Given the description of an element on the screen output the (x, y) to click on. 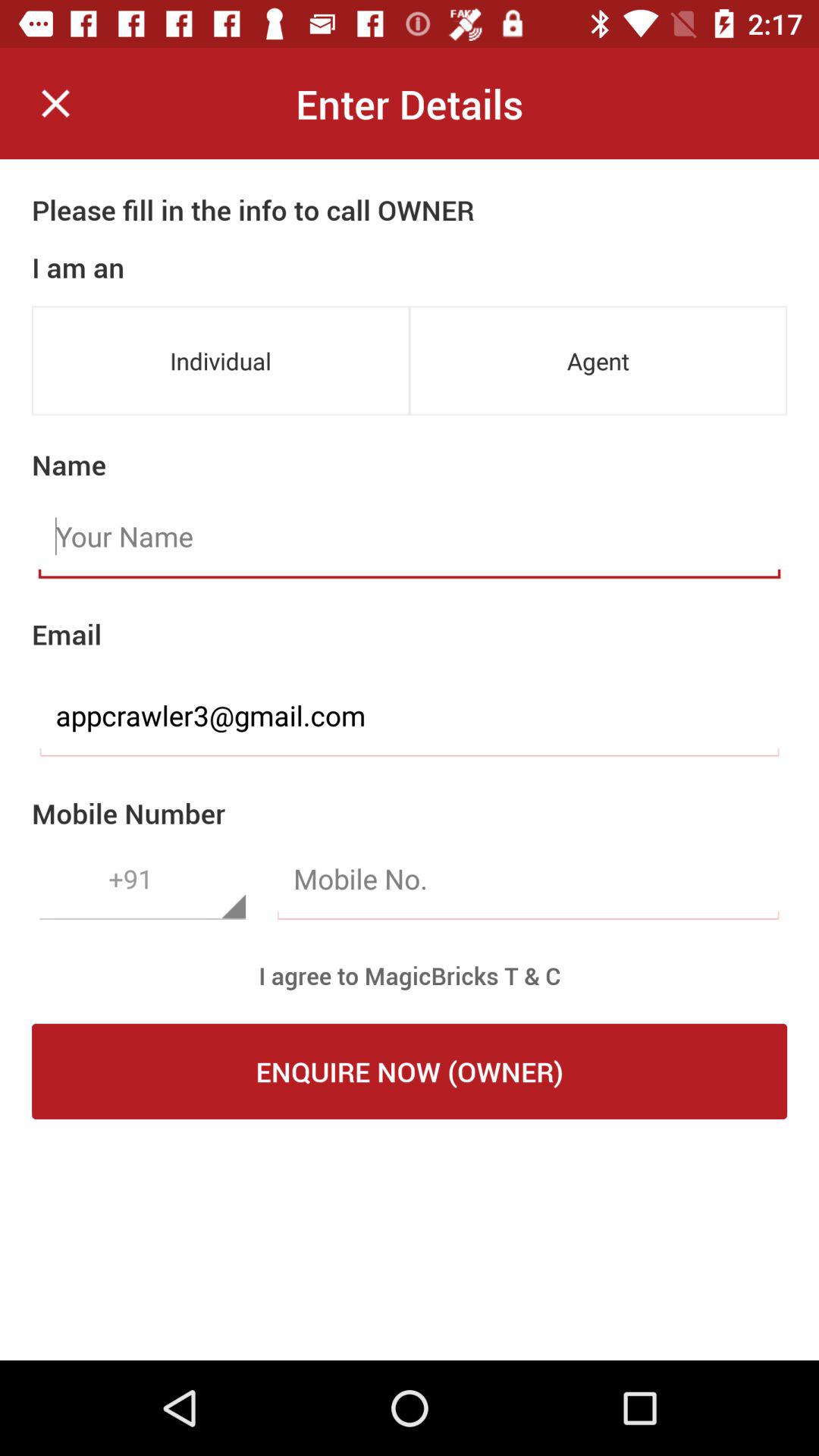
scroll to the appcrawler3@gmail.com icon (409, 716)
